Given the description of an element on the screen output the (x, y) to click on. 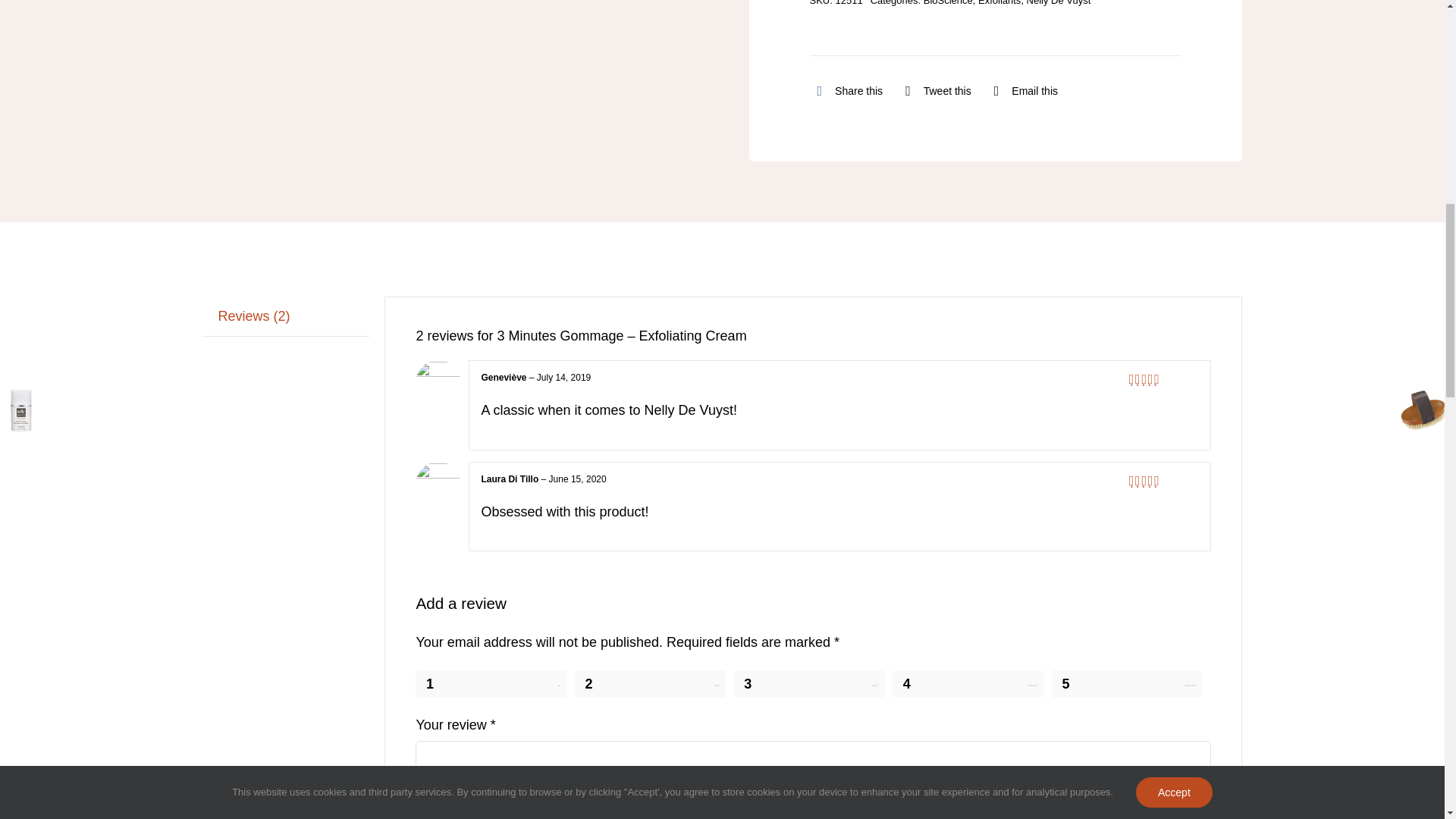
Tweet this (934, 90)
Exfoliants (999, 2)
BioScience (947, 2)
Share this (846, 90)
Nelly De Vuyst (1058, 2)
